Given the description of an element on the screen output the (x, y) to click on. 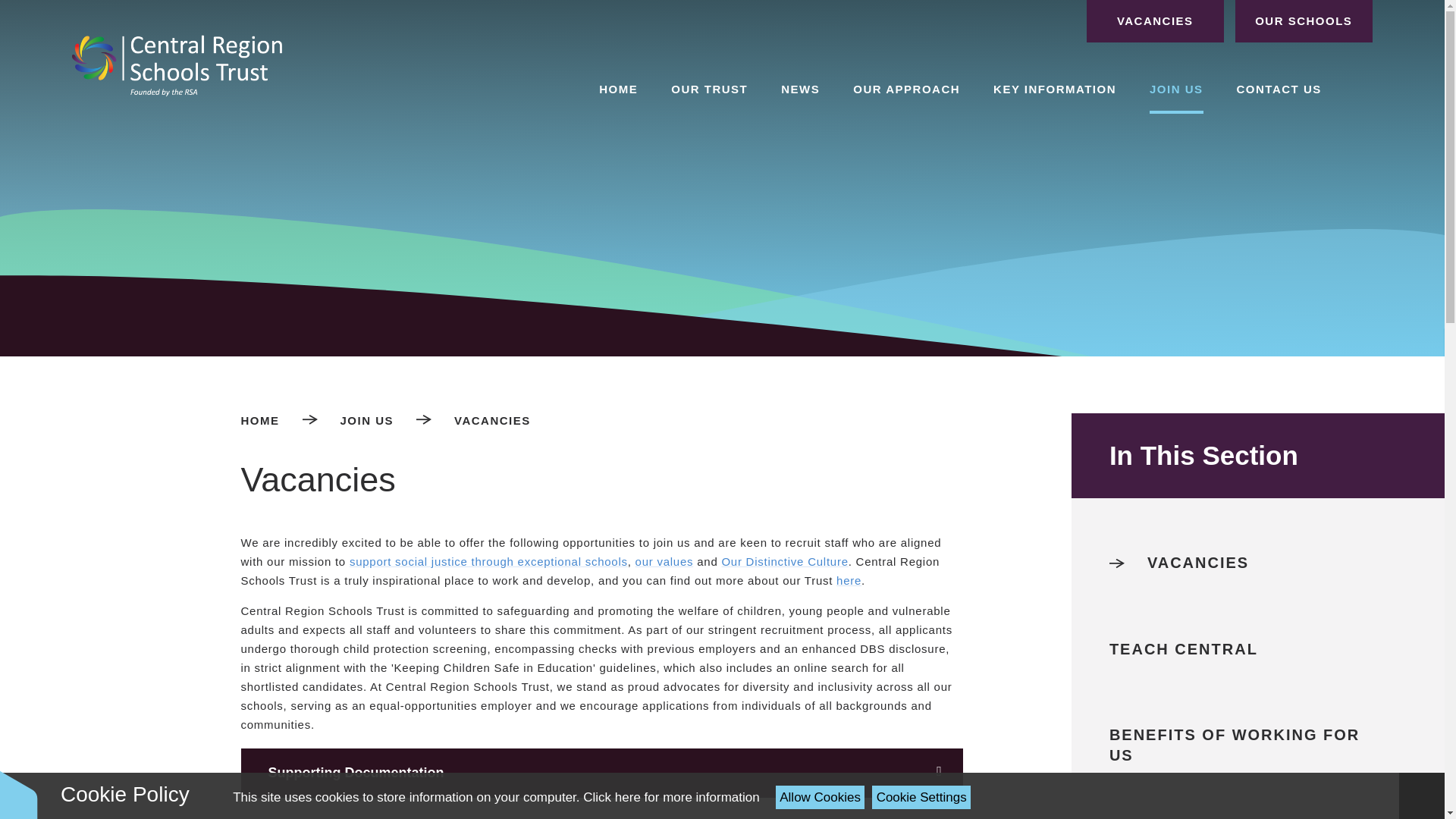
VACANCIES (1155, 21)
OUR TRUST (708, 89)
NEWS (799, 89)
HOME (617, 89)
OUR APPROACH (905, 89)
KEY INFORMATION (1054, 89)
OUR SCHOOLS (1303, 21)
